Given the description of an element on the screen output the (x, y) to click on. 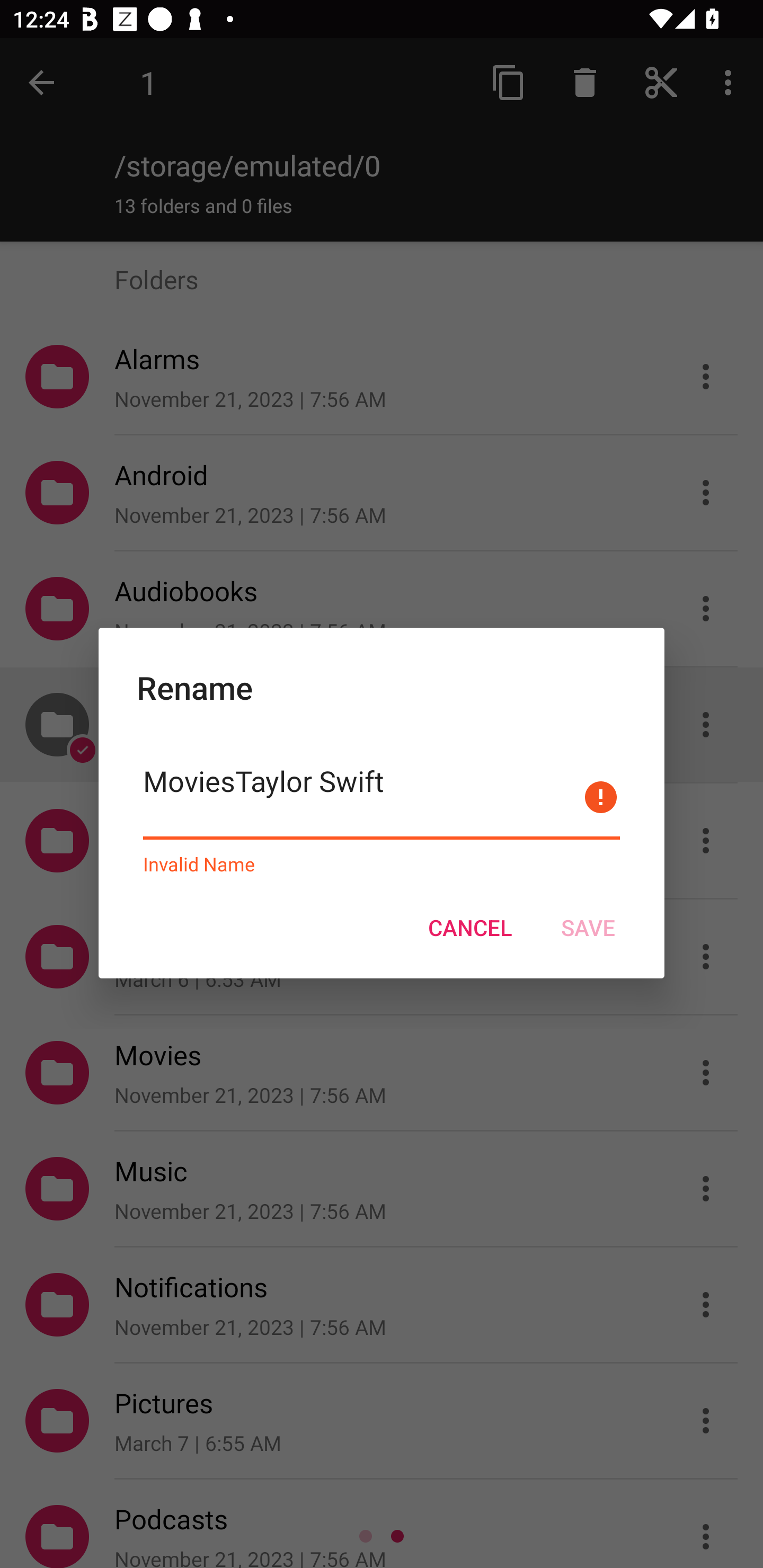
MoviesTaylor Swift
 (381, 797)
CANCEL (469, 927)
SAVE (588, 927)
